Given the description of an element on the screen output the (x, y) to click on. 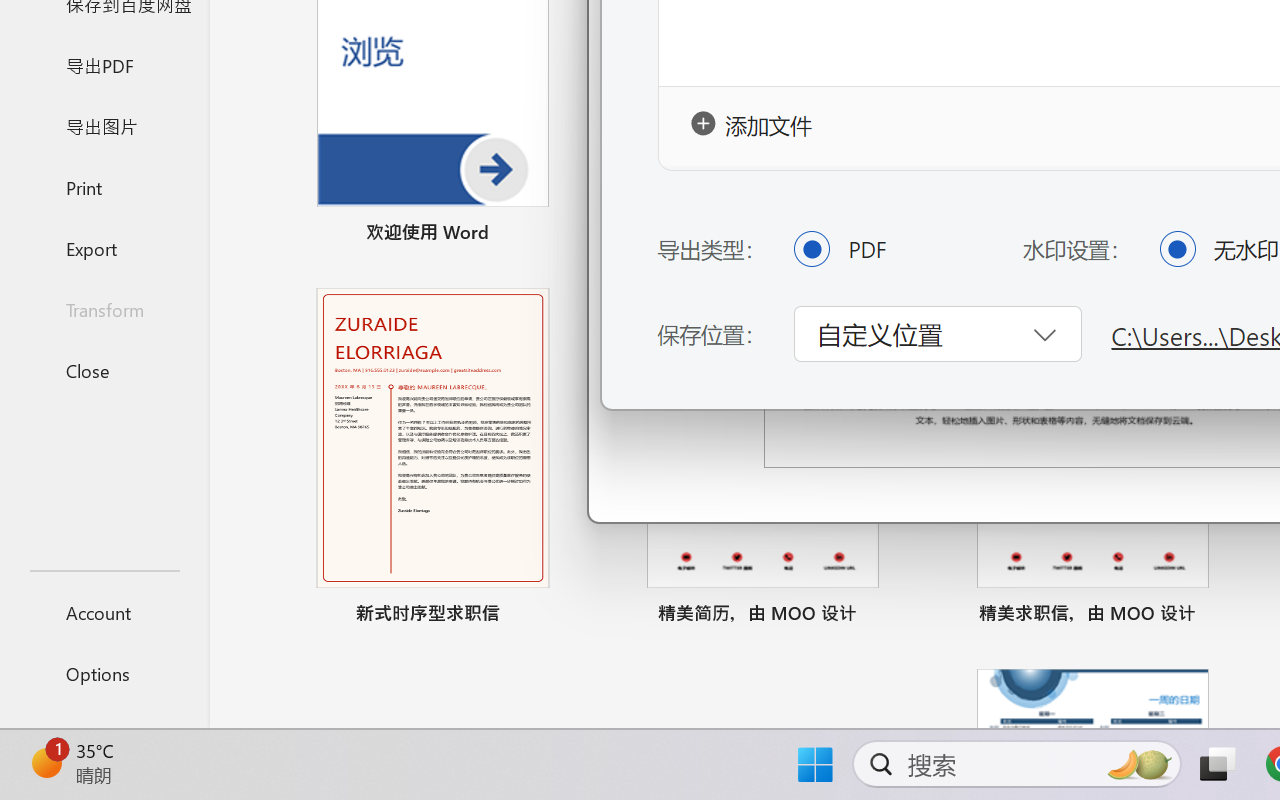
Options (104, 673)
Transform (104, 309)
Account (104, 612)
Pin to list (1223, 616)
Export (104, 248)
